Given the description of an element on the screen output the (x, y) to click on. 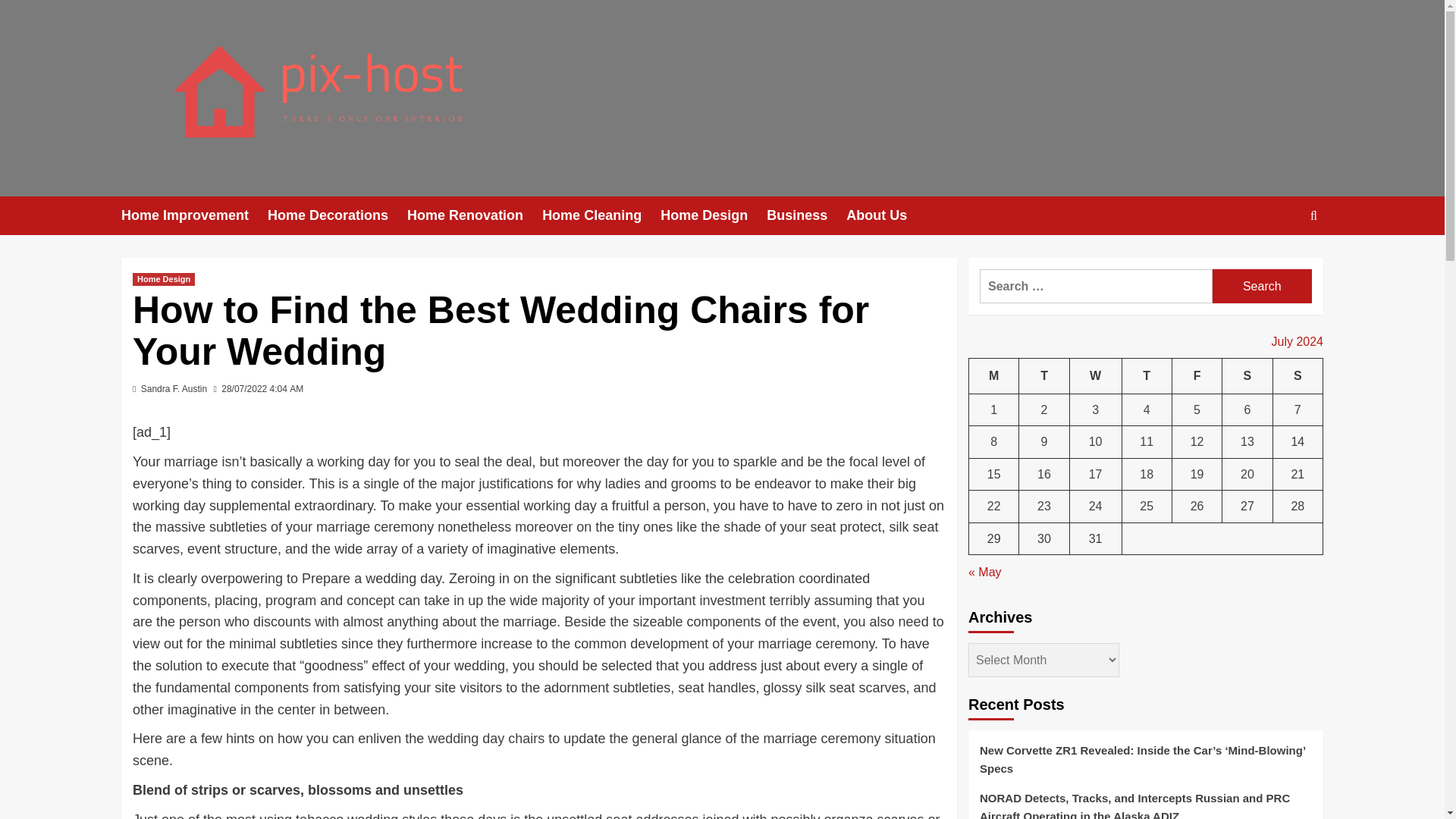
Saturday (1247, 375)
Tuesday (1043, 375)
Sunday (1297, 375)
wedding day chairs (486, 738)
Thursday (1146, 375)
Home Improvement (193, 215)
Home Design (714, 215)
Wednesday (1094, 375)
Home Design (163, 278)
Home Cleaning (601, 215)
Search (1261, 286)
Home Renovation (474, 215)
Monday (994, 375)
Home Decorations (337, 215)
Business (806, 215)
